Given the description of an element on the screen output the (x, y) to click on. 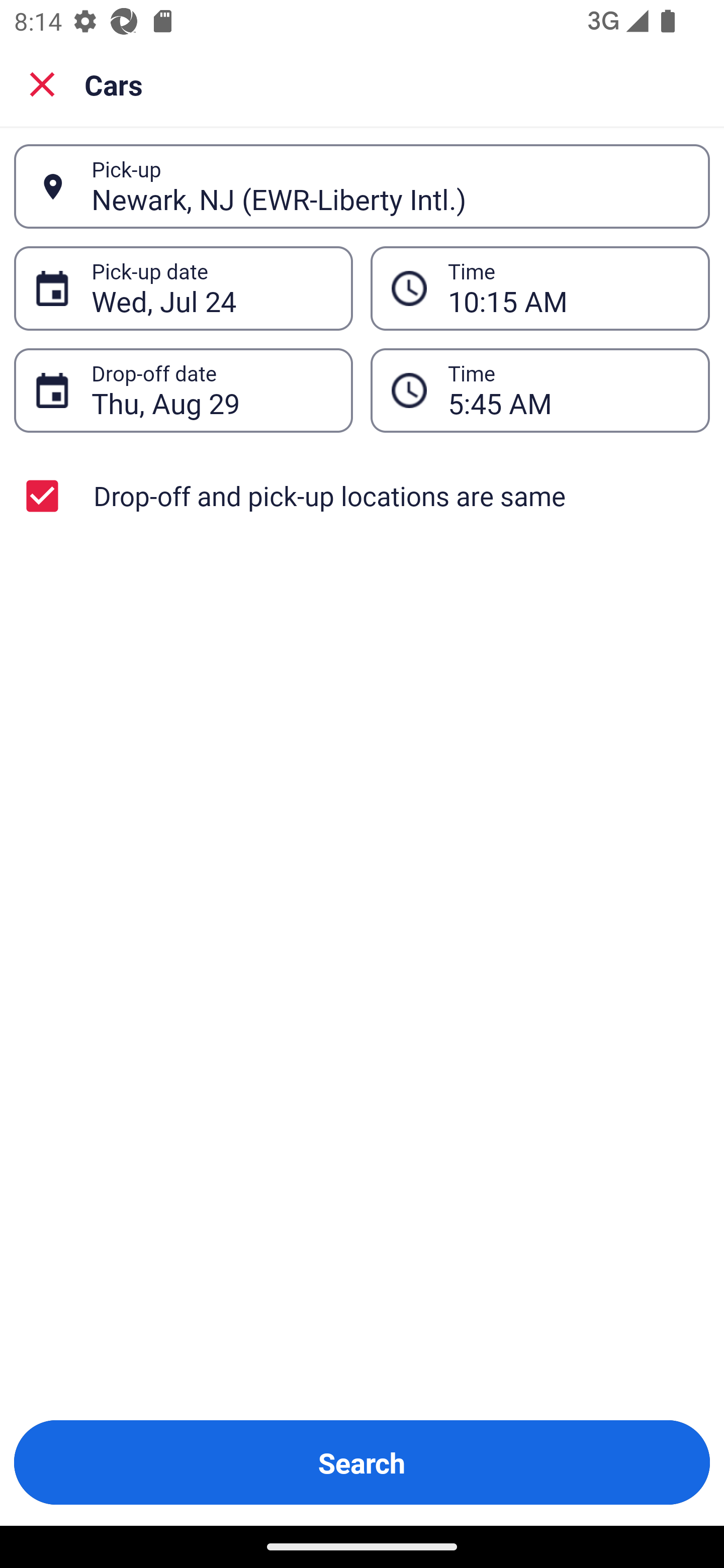
Close search screen (41, 83)
Newark, NJ (EWR-Liberty Intl.) Pick-up (361, 186)
Newark, NJ (EWR-Liberty Intl.) (389, 186)
Wed, Jul 24 Pick-up date (183, 288)
10:15 AM (540, 288)
Wed, Jul 24 (211, 288)
10:15 AM (568, 288)
Thu, Aug 29 Drop-off date (183, 390)
5:45 AM (540, 390)
Thu, Aug 29 (211, 390)
5:45 AM (568, 390)
Drop-off and pick-up locations are same (361, 495)
Search Button Search (361, 1462)
